Given the description of an element on the screen output the (x, y) to click on. 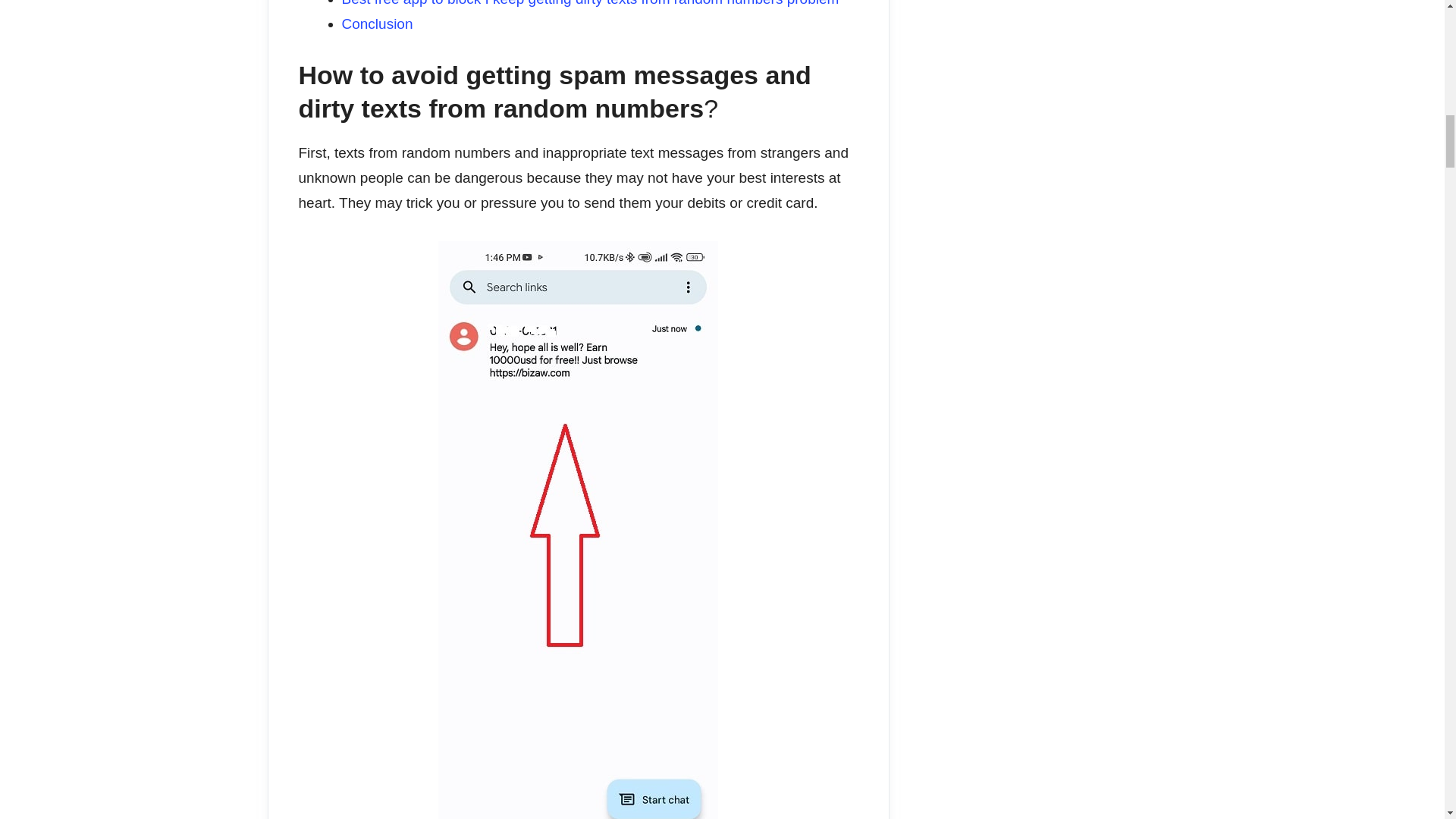
Conclusion (376, 23)
